Given the description of an element on the screen output the (x, y) to click on. 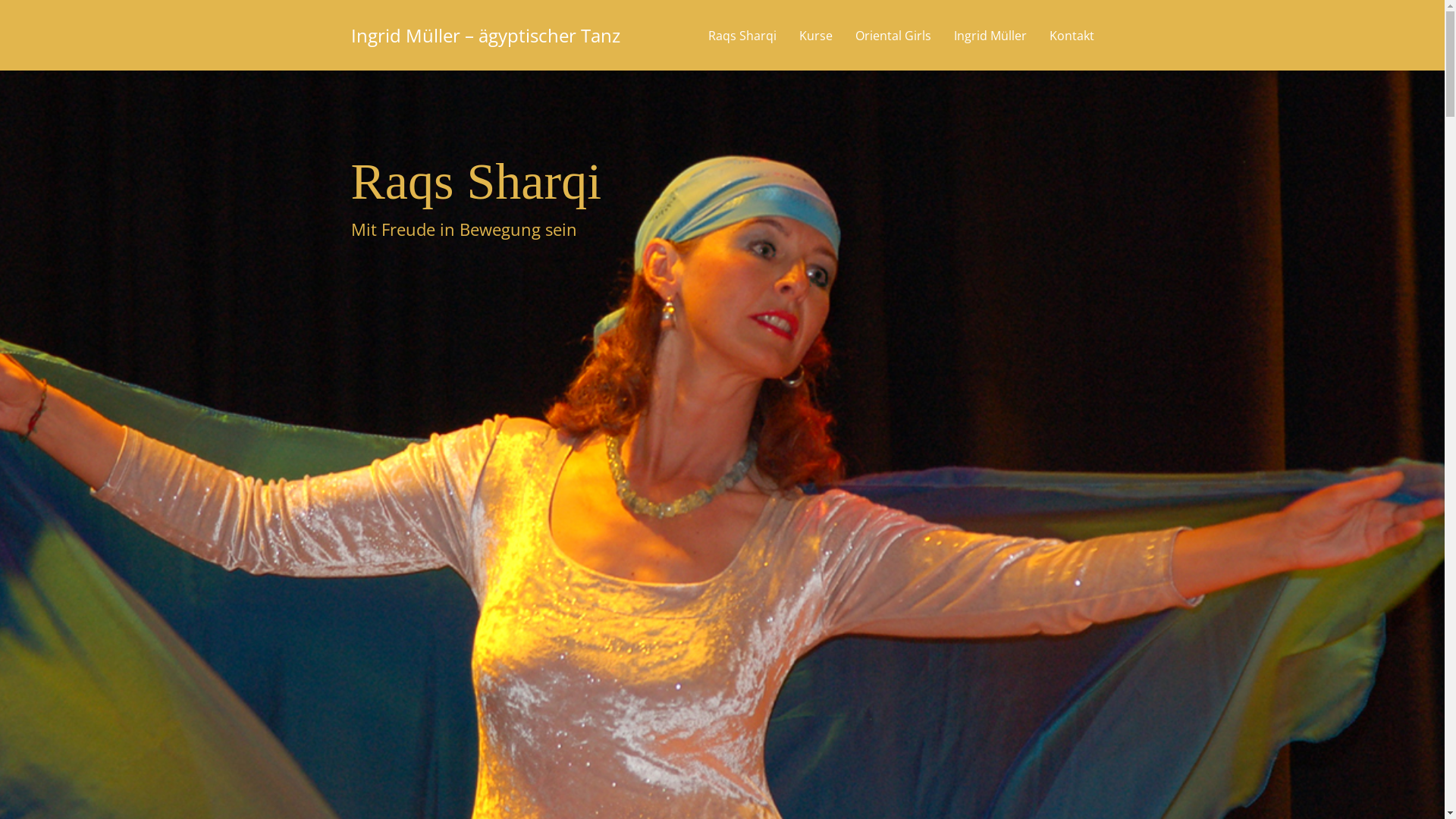
Oriental Girls Element type: text (892, 35)
Kontakt Element type: text (1070, 35)
Kurse Element type: text (815, 35)
Raqs Sharqi Element type: text (741, 35)
